Given the description of an element on the screen output the (x, y) to click on. 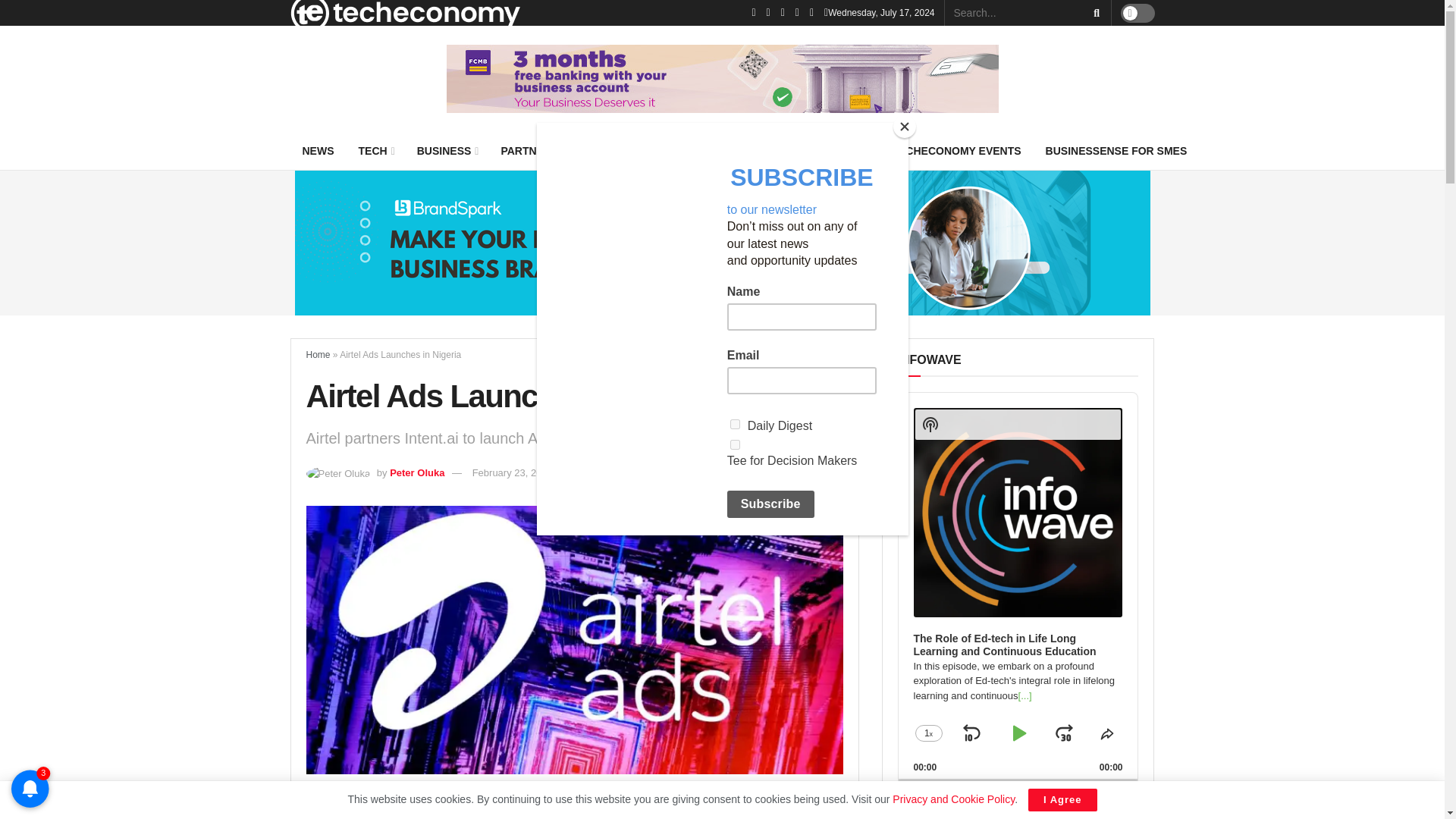
0 (1017, 780)
NEWS (317, 150)
ECONOMY (611, 150)
FEATURES (698, 150)
PARTNERS (528, 150)
TECH (375, 150)
BUSINESS (446, 150)
